Given the description of an element on the screen output the (x, y) to click on. 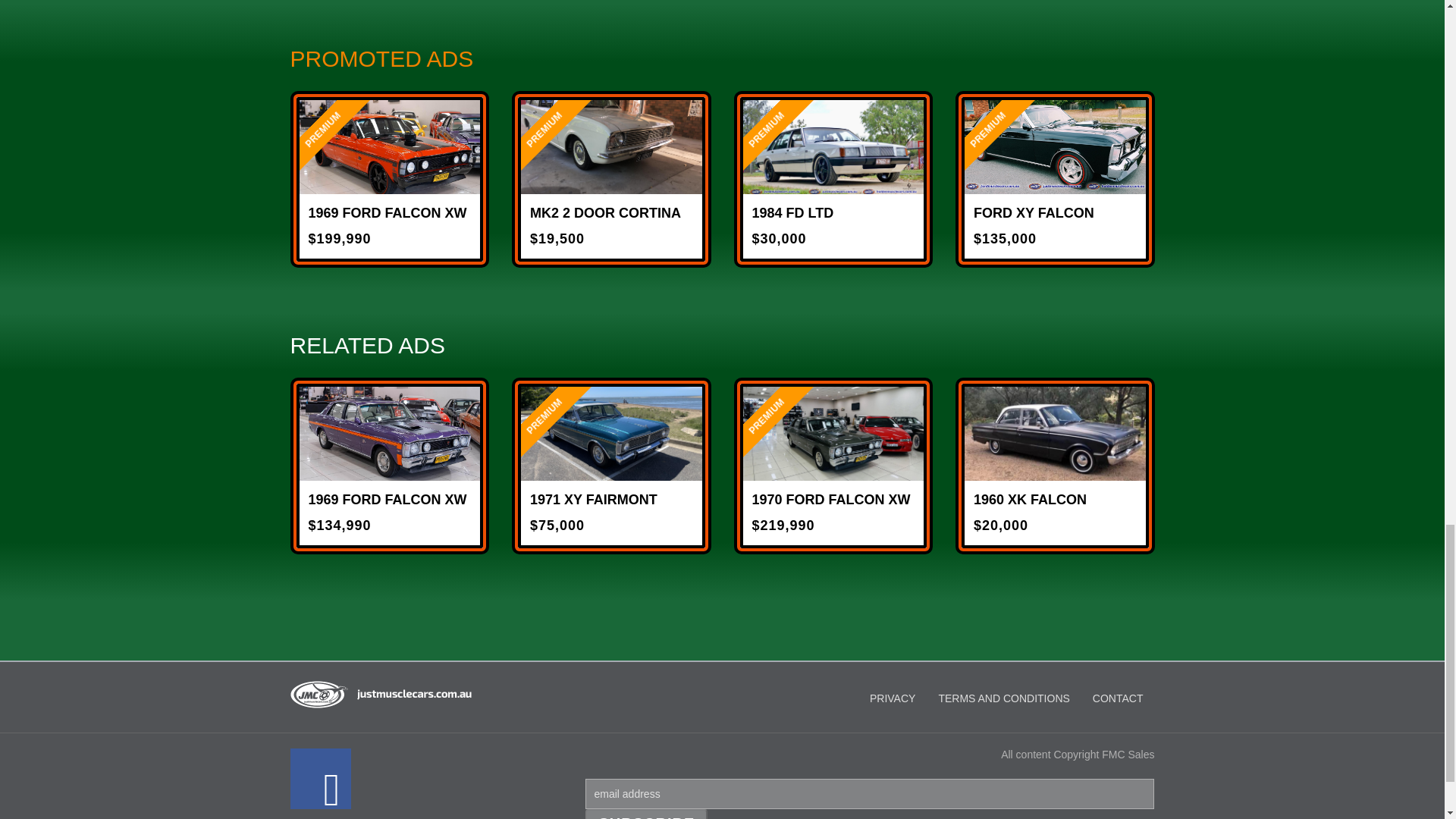
Subscribe (646, 814)
